Given the description of an element on the screen output the (x, y) to click on. 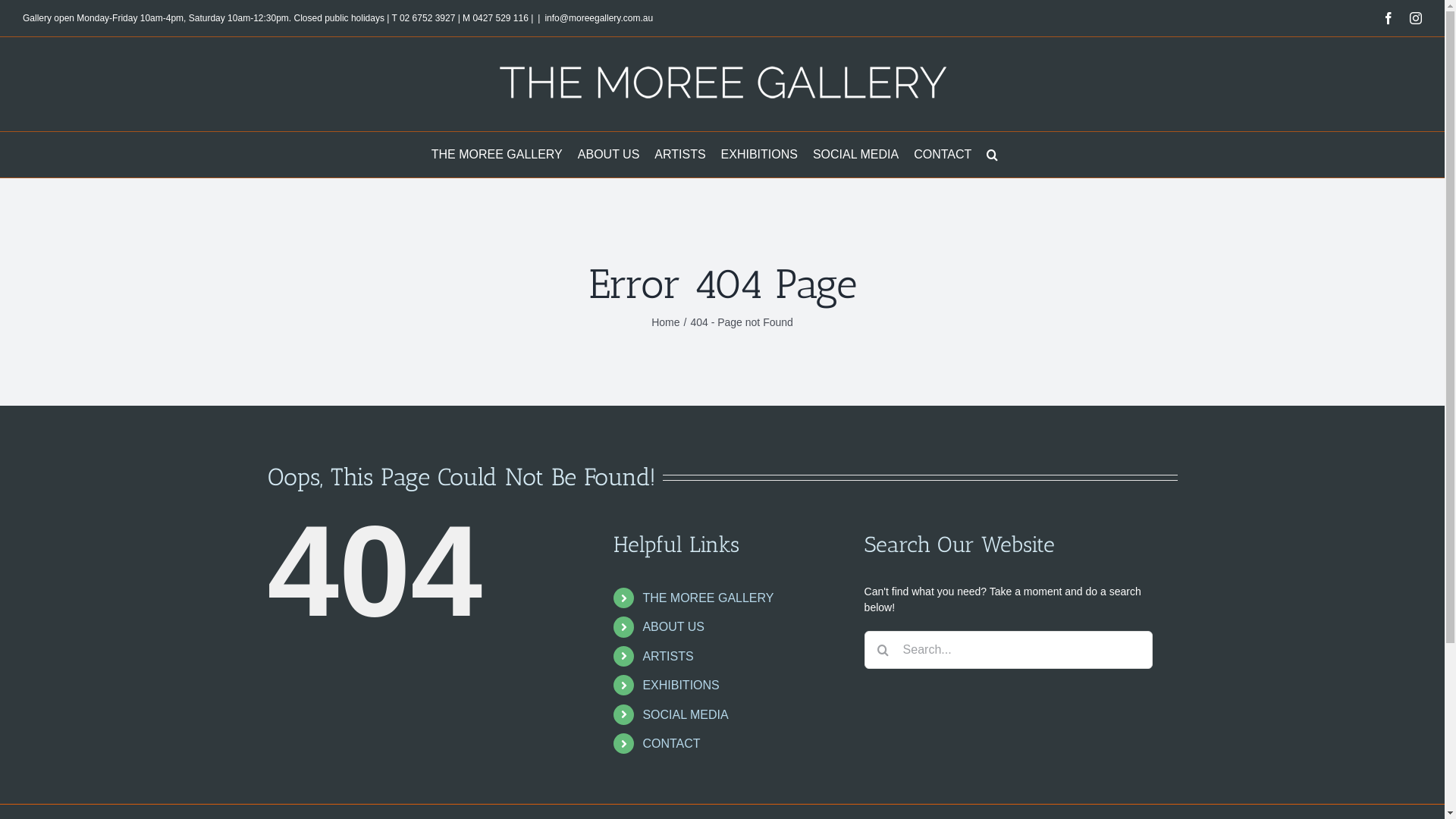
ARTISTS Element type: text (679, 154)
EXHIBITIONS Element type: text (759, 154)
SOCIAL MEDIA Element type: text (685, 714)
ARTISTS Element type: text (667, 655)
Home Element type: text (665, 322)
CONTACT Element type: text (942, 154)
Facebook Element type: text (1388, 18)
CONTACT Element type: text (670, 743)
info@moreegallery.com.au Element type: text (598, 17)
Search Element type: hover (991, 154)
SOCIAL MEDIA Element type: text (855, 154)
THE MOREE GALLERY Element type: text (707, 597)
ABOUT US Element type: text (673, 626)
THE MOREE GALLERY Element type: text (496, 154)
ABOUT US Element type: text (608, 154)
EXHIBITIONS Element type: text (680, 684)
Instagram Element type: text (1415, 18)
